Given the description of an element on the screen output the (x, y) to click on. 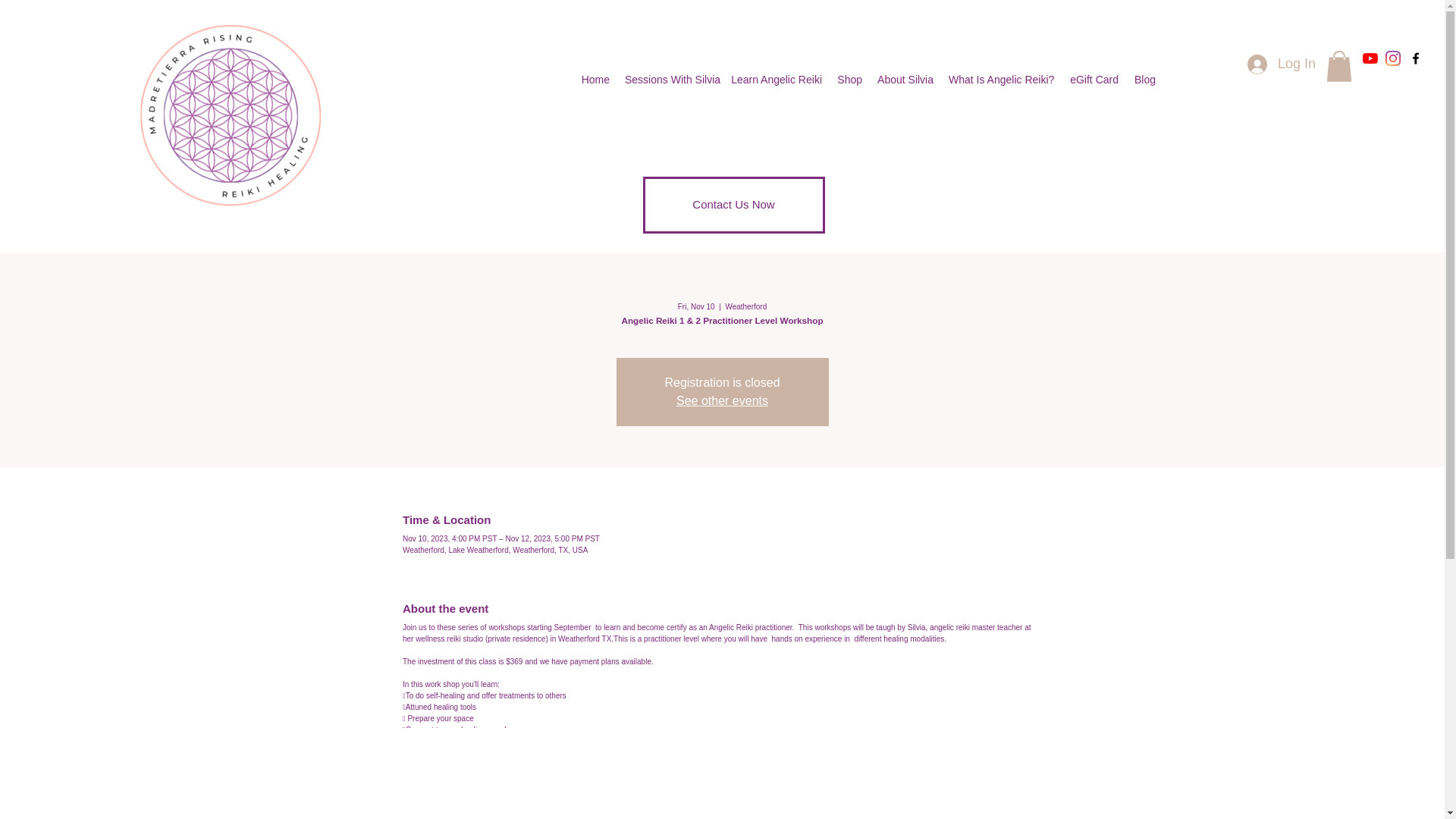
Log In (1281, 64)
See other events (722, 400)
Home (595, 79)
Sessions With Silvia (670, 79)
About Silvia (904, 79)
Contact Us Now (734, 204)
Shop (849, 79)
Learn Angelic Reiki (776, 79)
What Is Angelic Reiki? (1000, 79)
Blog (1144, 79)
Black and Gold Minimalist Modern Badge C (231, 114)
eGift Card (1093, 79)
